Given the description of an element on the screen output the (x, y) to click on. 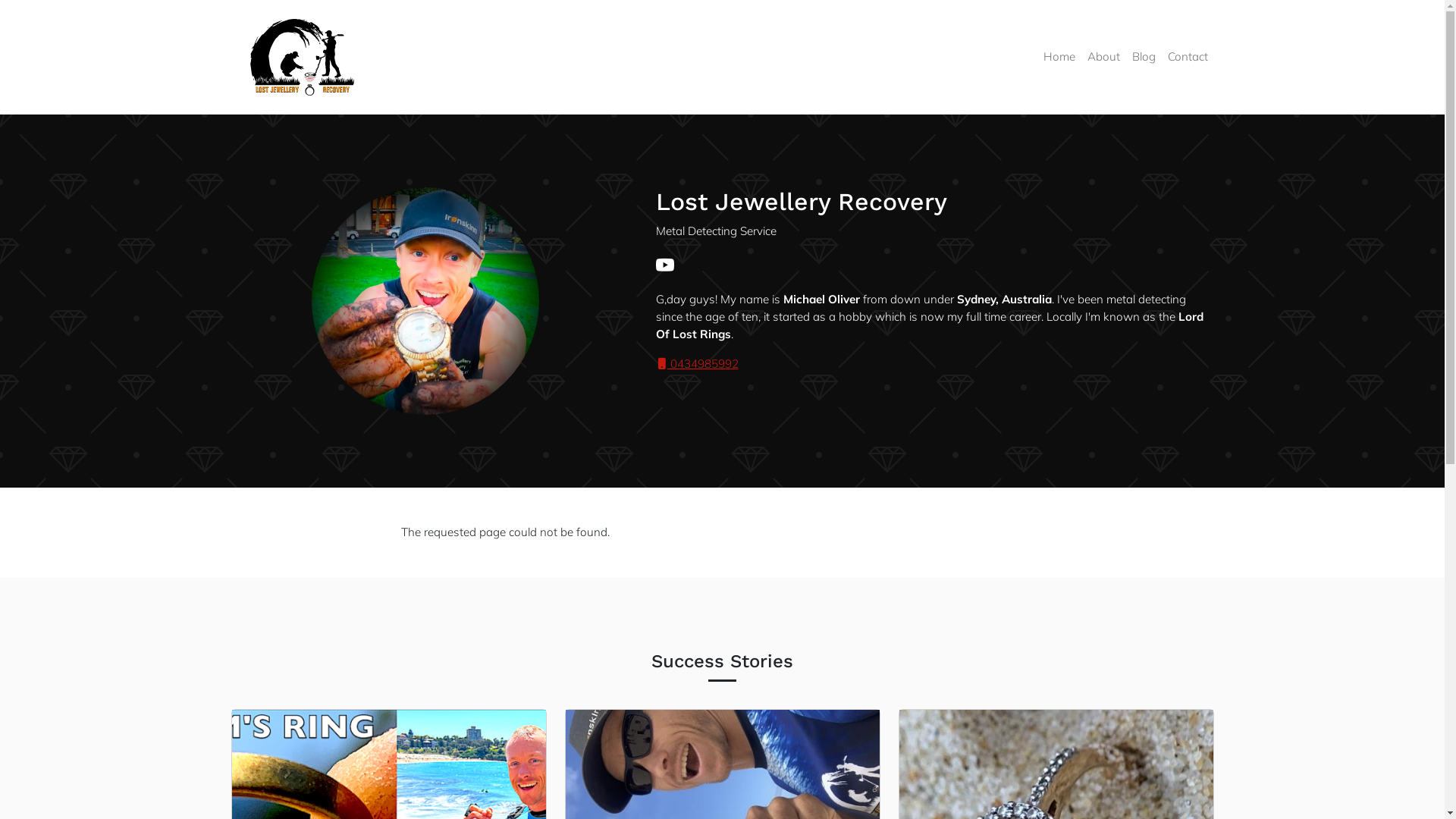
Home Element type: hover (307, 56)
0434985992 Element type: text (696, 363)
Contact Element type: text (1187, 57)
Blog Element type: text (1143, 57)
About Element type: text (1103, 57)
Home Element type: text (1059, 57)
